Given the description of an element on the screen output the (x, y) to click on. 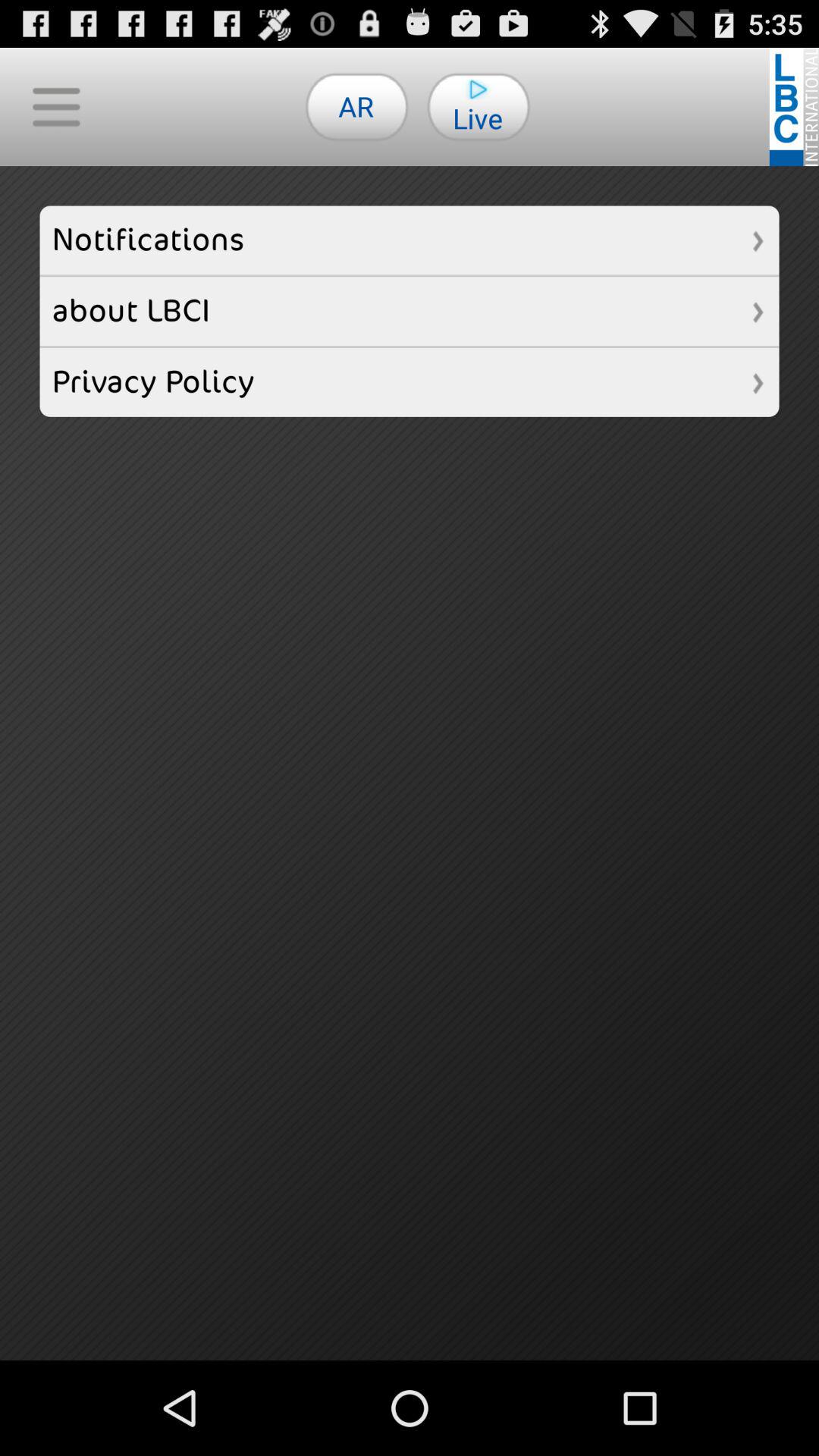
scroll until ar item (356, 106)
